Given the description of an element on the screen output the (x, y) to click on. 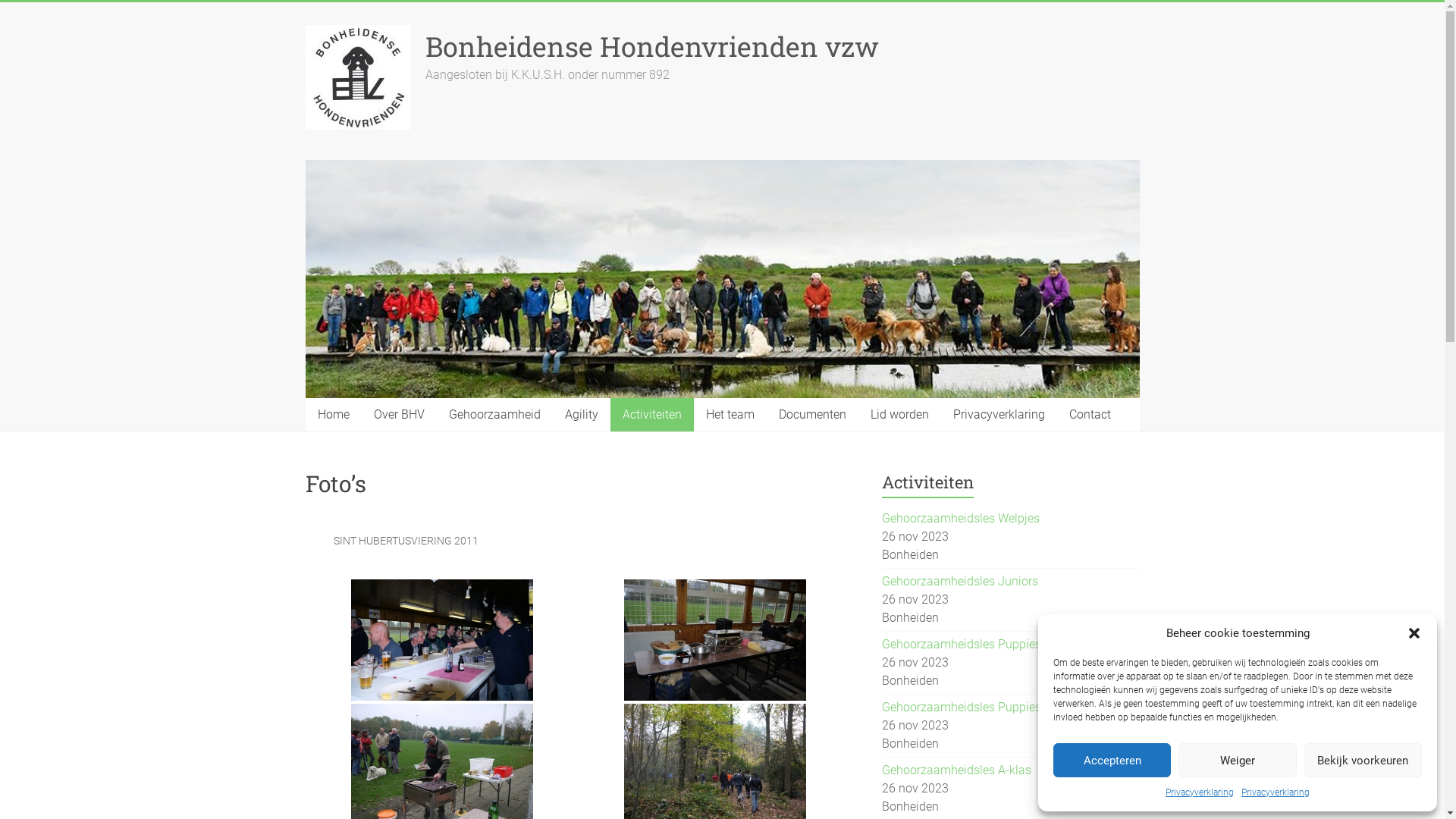
Sint Hubertusviering 2011-69 Element type: hover (441, 639)
Het team Element type: text (729, 413)
Gehoorzaamheidsles Welpjes Element type: text (960, 518)
Privacyverklaring Element type: text (1199, 792)
Gehoorzaamheidsles Puppies 2 Element type: text (966, 706)
Sint Hubertusviering 2011-68 Element type: hover (714, 639)
Accepteren Element type: text (1111, 760)
Bekijk voorkeuren Element type: text (1362, 760)
Gehoorzaamheidsles A-klas Element type: text (956, 769)
Contact Element type: text (1090, 413)
Gehoorzaamheidsles Juniors Element type: text (959, 580)
Agility Element type: text (580, 413)
Privacyverklaring Element type: text (1275, 792)
Over BHV Element type: text (398, 413)
Lid worden Element type: text (899, 413)
Privacyverklaring Element type: text (998, 413)
Bonheidense Hondenvrienden vzw Element type: text (651, 46)
Home Element type: text (332, 413)
Documenten Element type: text (811, 413)
Gehoorzaamheid Element type: text (494, 413)
Weiger Element type: text (1236, 760)
Activiteiten Element type: text (651, 413)
Gehoorzaamheidsles Puppies 1 Element type: text (966, 644)
